Given the description of an element on the screen output the (x, y) to click on. 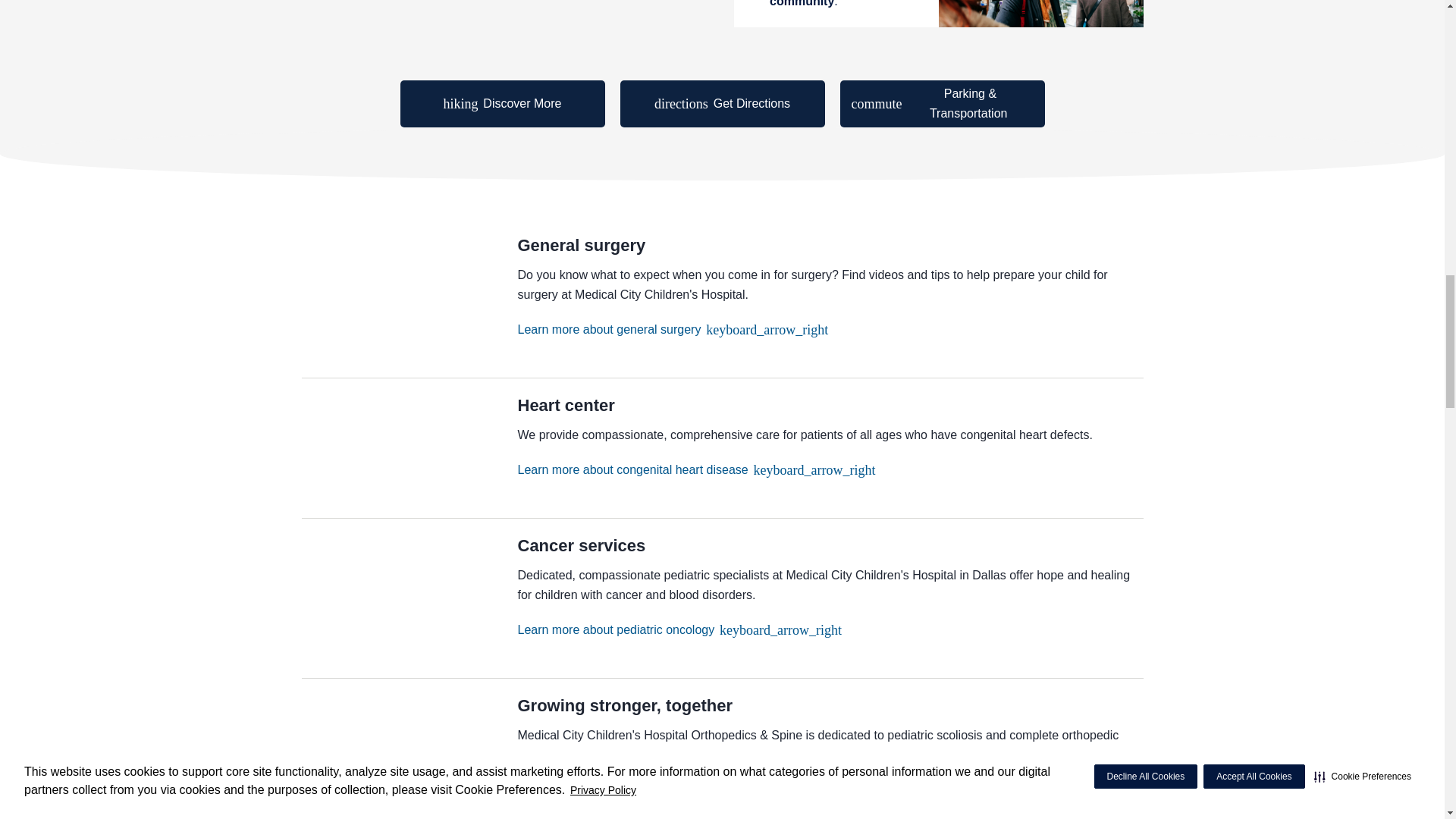
Our pediatric oncology services (678, 629)
Our scoliosis services (637, 789)
Our congenital heart services (695, 469)
